Given the description of an element on the screen output the (x, y) to click on. 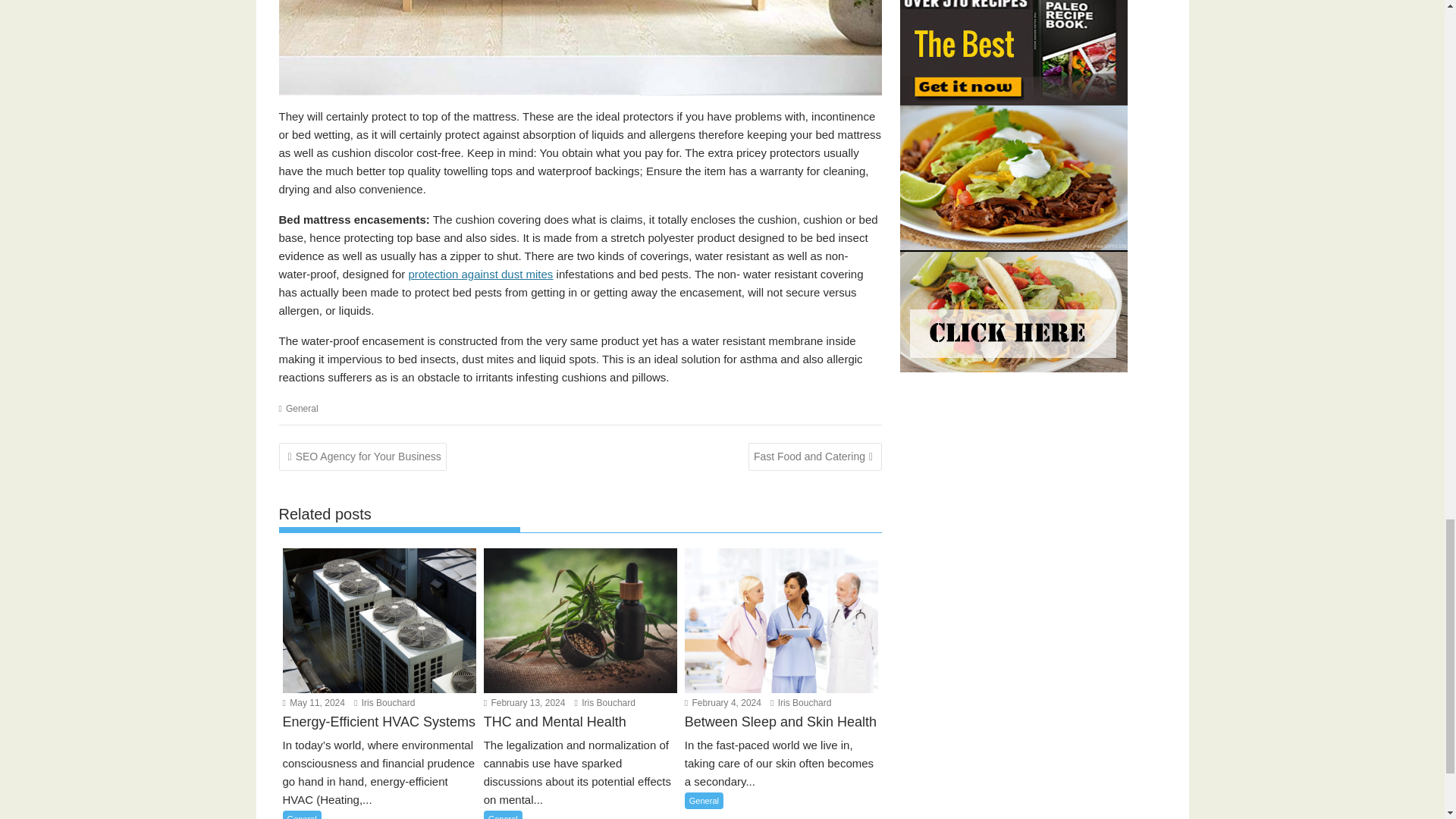
Iris Bouchard (383, 702)
Iris Bouchard (800, 702)
Iris Bouchard (604, 702)
